Given the description of an element on the screen output the (x, y) to click on. 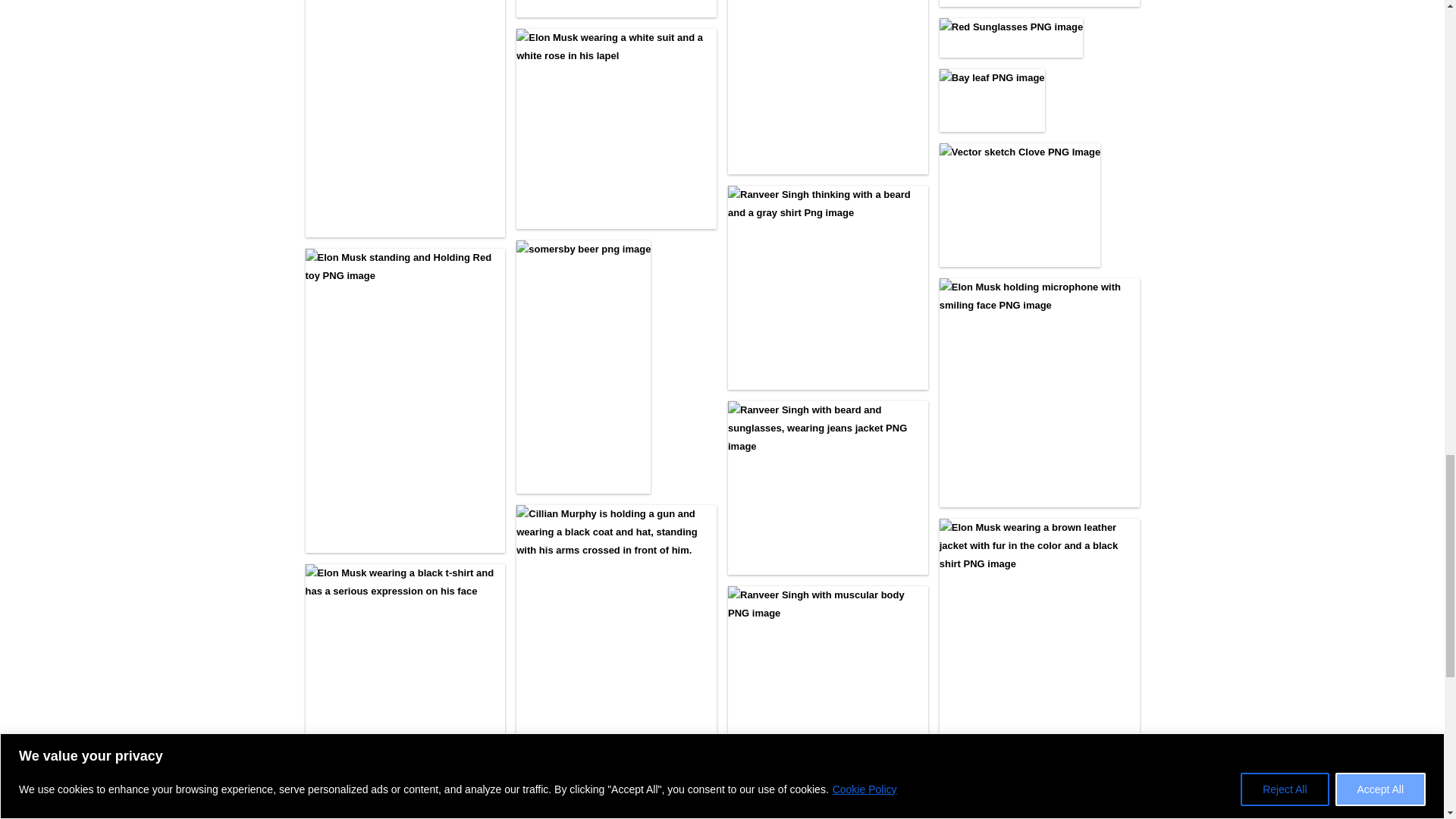
Ranveer Singh with beard and sunglasses PNG image (828, 487)
Elon Musk giving thumbs up PNG image (616, 8)
Ranbir Kapoor in blue T-shirt PNG image (828, 87)
Elon Musk wearing white suit PNG image (616, 128)
Elon Musk folding hand PNG image (404, 815)
Ranveer Singh thinking Png image (828, 287)
